Given the description of an element on the screen output the (x, y) to click on. 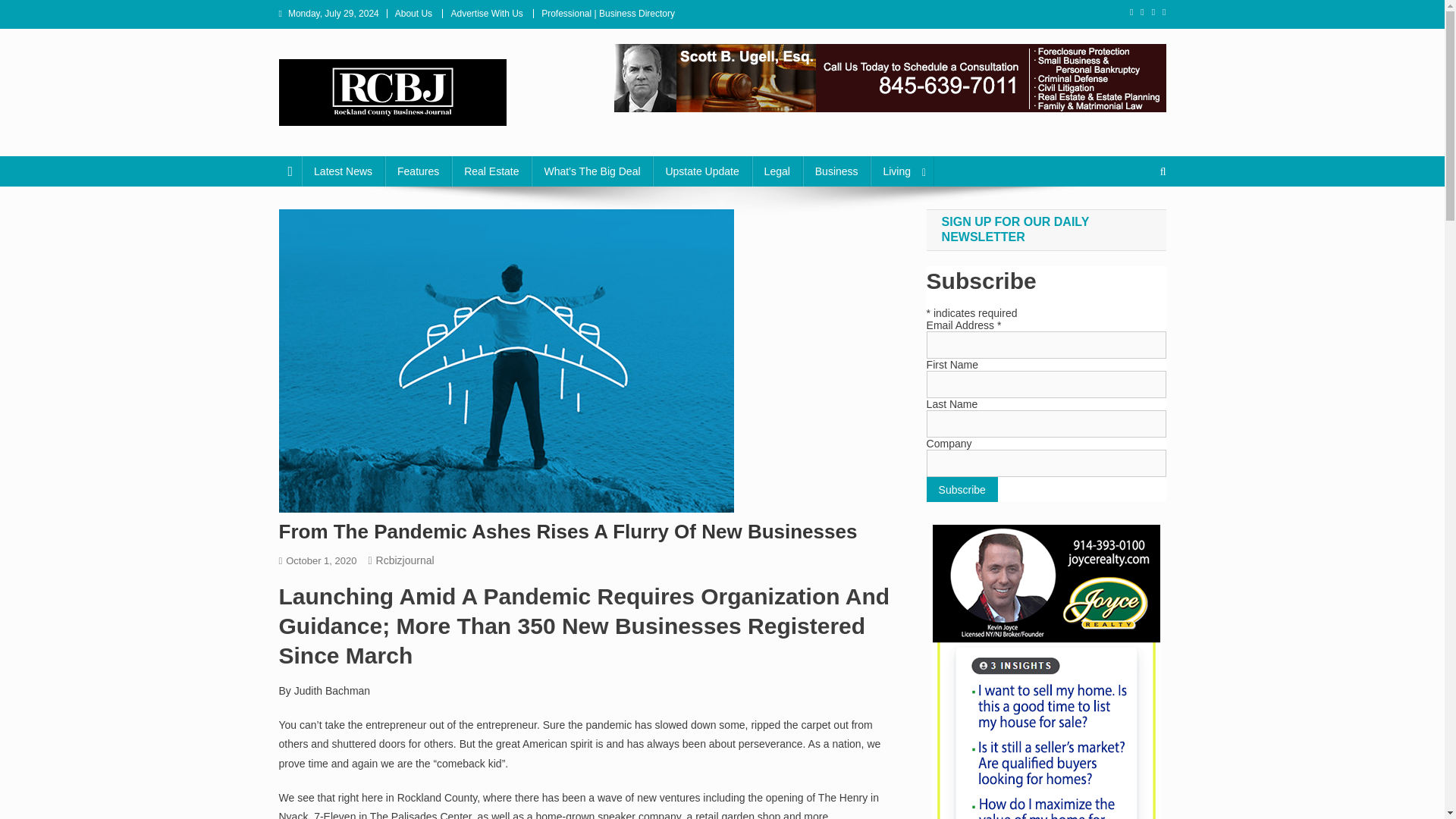
Latest News (342, 171)
Business (836, 171)
Features (418, 171)
Legal (777, 171)
Search (1133, 221)
Subscribe (961, 489)
Advertise With Us (485, 13)
Upstate Update (701, 171)
Rockland County Business Journal (483, 140)
About Us (413, 13)
Living (902, 171)
Real Estate (491, 171)
